Given the description of an element on the screen output the (x, y) to click on. 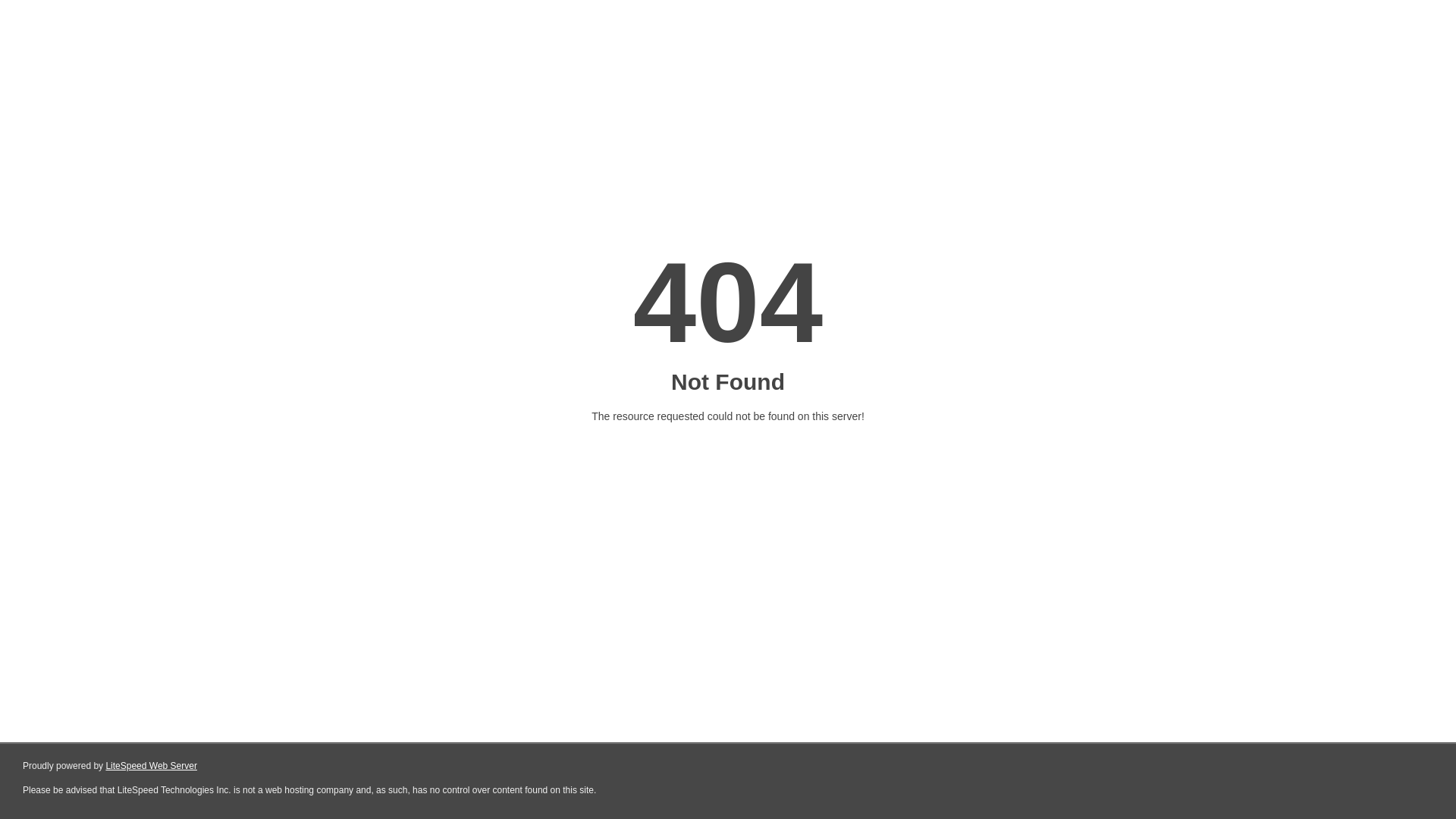
LiteSpeed Web Server Element type: text (151, 765)
